Given the description of an element on the screen output the (x, y) to click on. 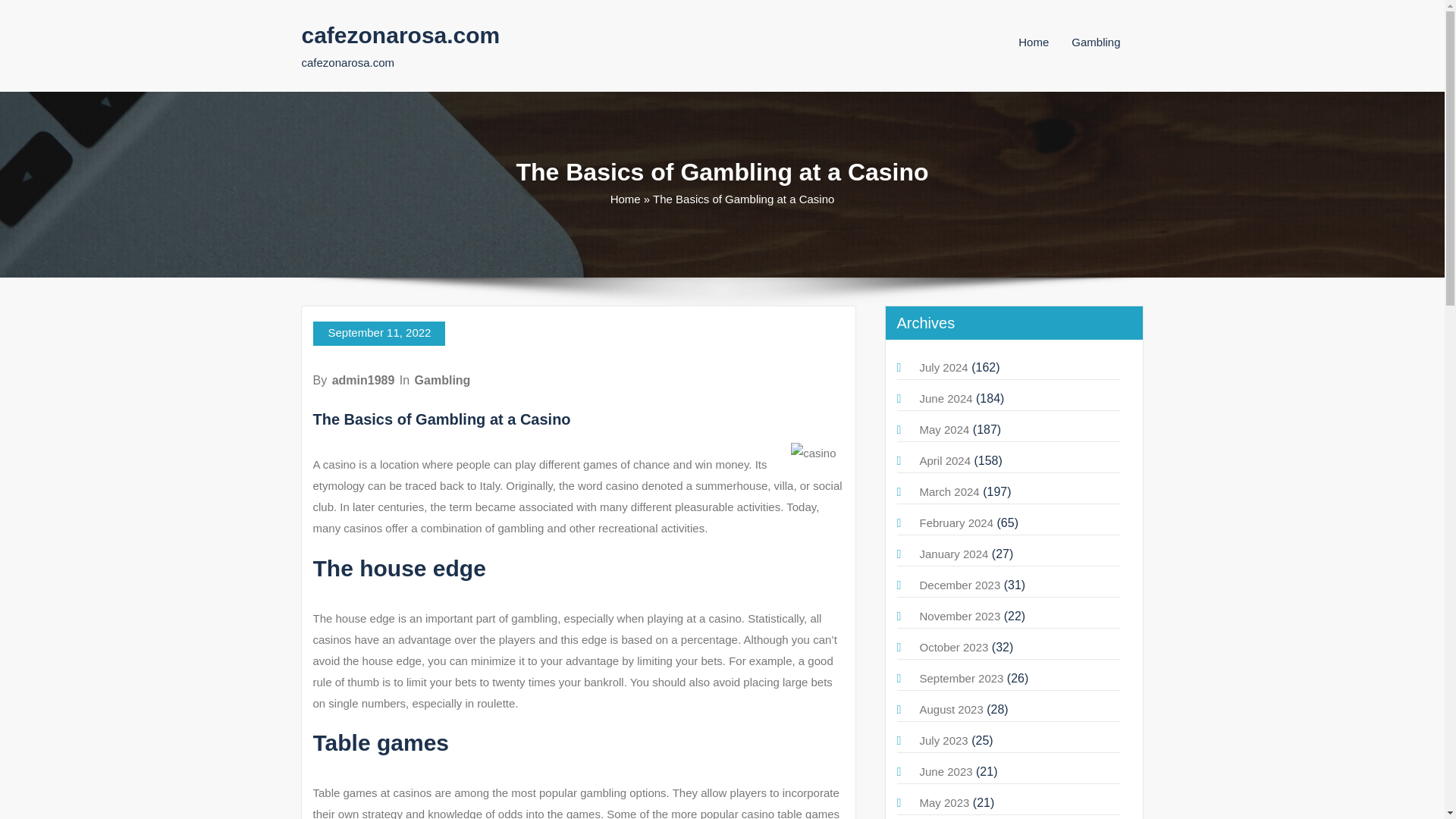
November 2023 (959, 615)
May 2023 (943, 802)
June 2023 (945, 771)
Gambling (442, 379)
June 2024 (945, 398)
March 2024 (948, 491)
September 11, 2022 (379, 333)
August 2023 (950, 708)
July 2024 (943, 367)
April 2024 (944, 460)
May 2024 (943, 429)
cafezonarosa.com (400, 34)
admin1989 (363, 379)
July 2023 (943, 739)
October 2023 (953, 646)
